Given the description of an element on the screen output the (x, y) to click on. 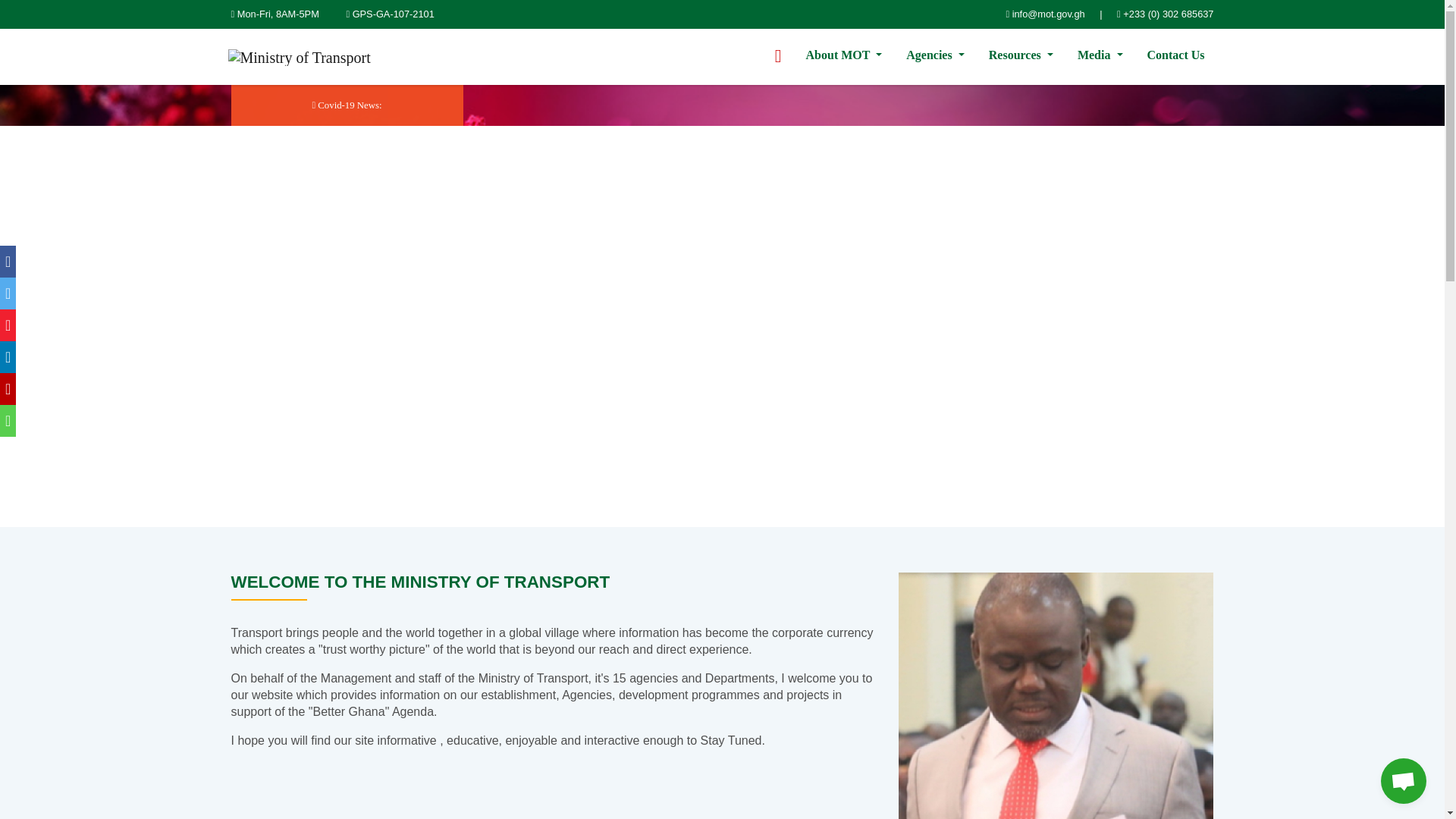
Resources (1020, 54)
Media (1100, 54)
About MOT (844, 54)
Agencies (934, 54)
